Given the description of an element on the screen output the (x, y) to click on. 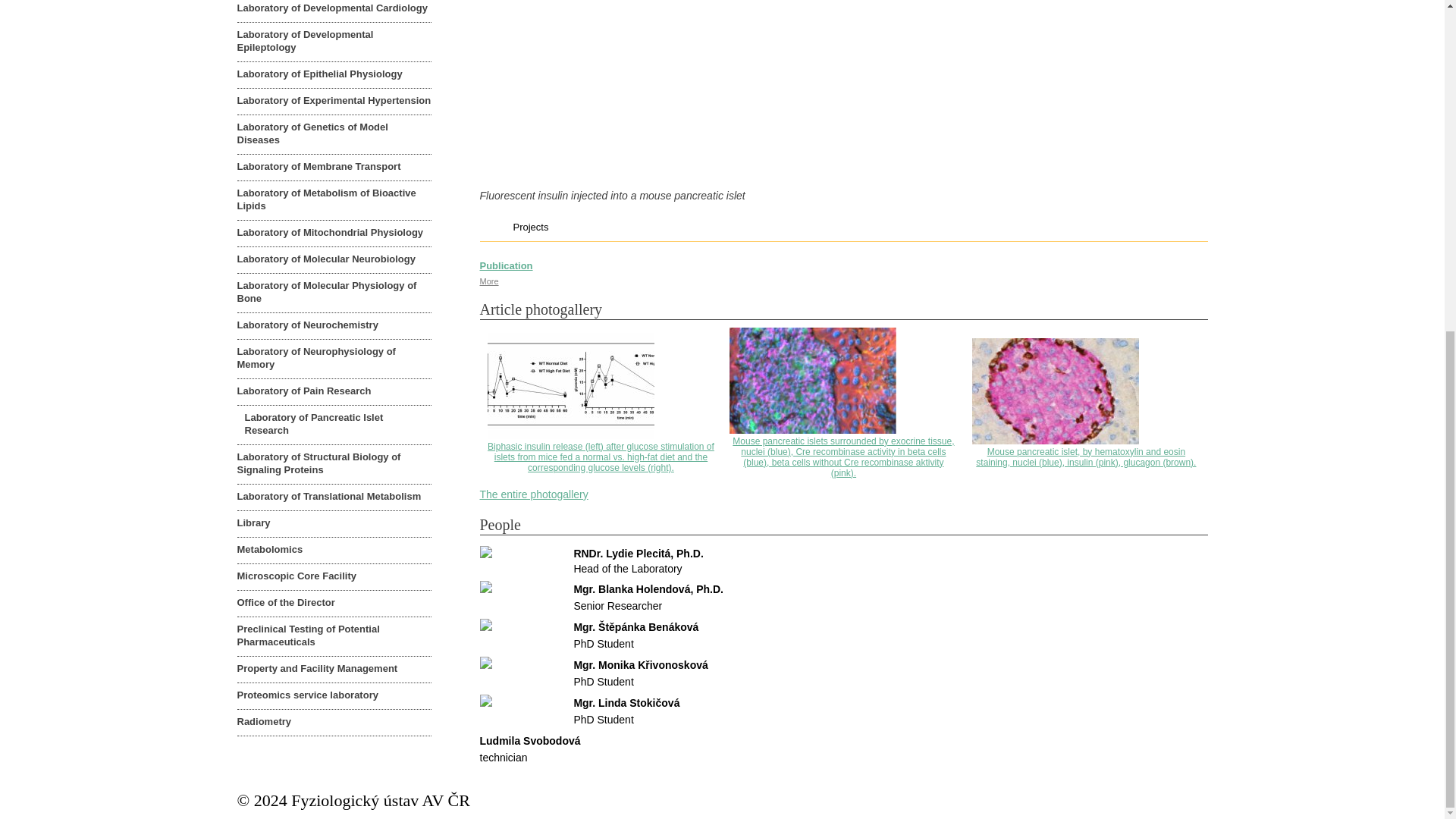
Laboratory of Genetics of Model Diseases (332, 134)
Laboratory of Epithelial Physiology (332, 74)
Laboratory of Metabolism of Bioactive Lipids (332, 200)
Laboratory of Neurophysiology of Memory (332, 358)
Laboratory of Developmental Cardiology (332, 11)
Laboratory of Molecular Neurobiology (332, 259)
Laboratory of Membrane Transport (332, 167)
Laboratory of Mitochondrial Physiology (332, 233)
Laboratory of Molecular Physiology of Bone (332, 292)
Laboratory of Experimental Hypertension (332, 101)
